Given the description of an element on the screen output the (x, y) to click on. 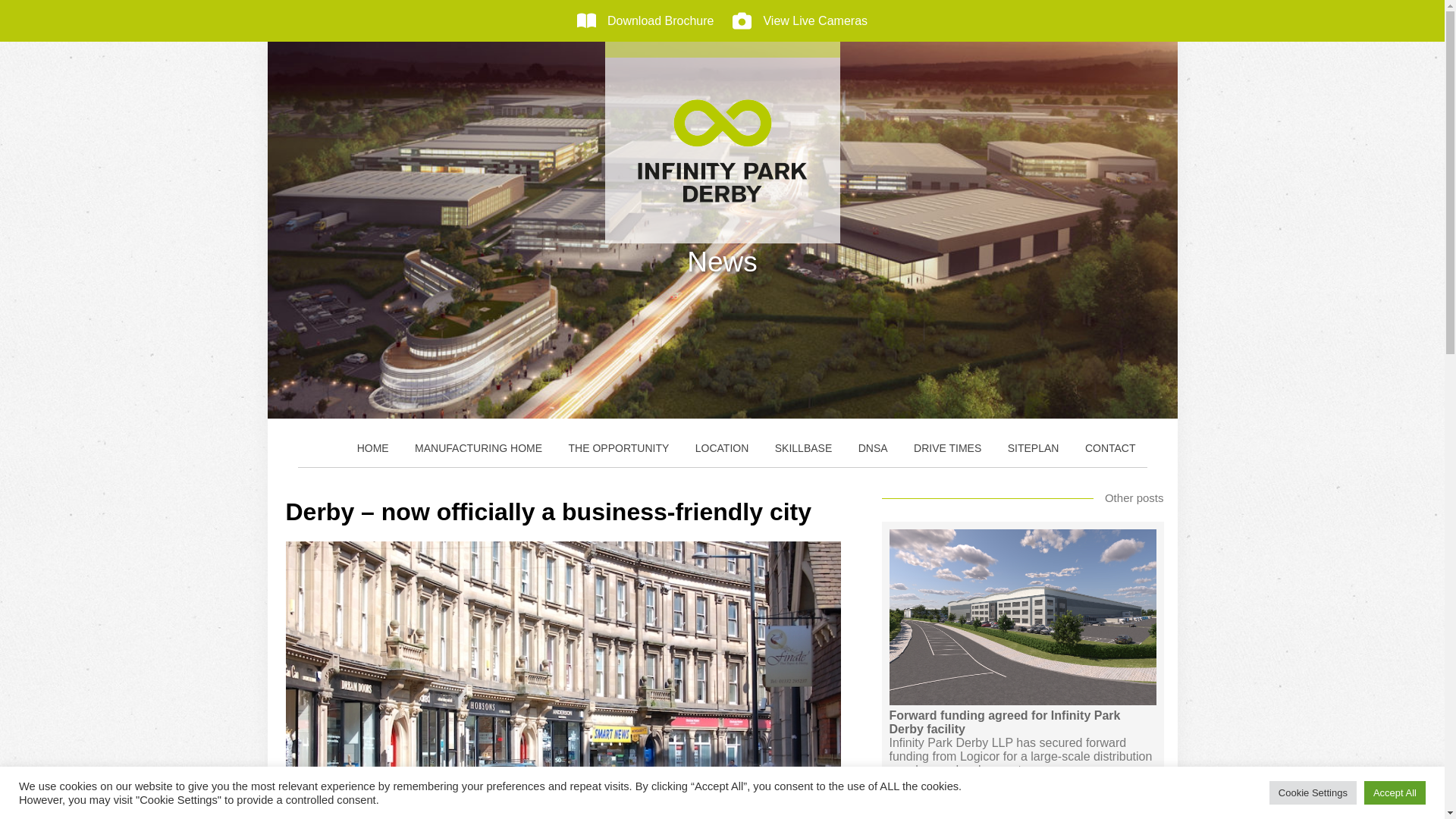
Read more (928, 798)
SKILLBASE (803, 447)
CONTACT (1110, 447)
DRIVE TIMES (947, 447)
View Live Cameras (799, 20)
Download Brochure (645, 20)
Cookie Settings (1312, 792)
Forward funding agreed for Infinity Park Derby facility (1022, 722)
MANUFACTURING HOME (478, 447)
HOME (373, 447)
DNSA (873, 447)
THE OPPORTUNITY (619, 447)
LOCATION (722, 447)
SITEPLAN (1032, 447)
